Given the description of an element on the screen output the (x, y) to click on. 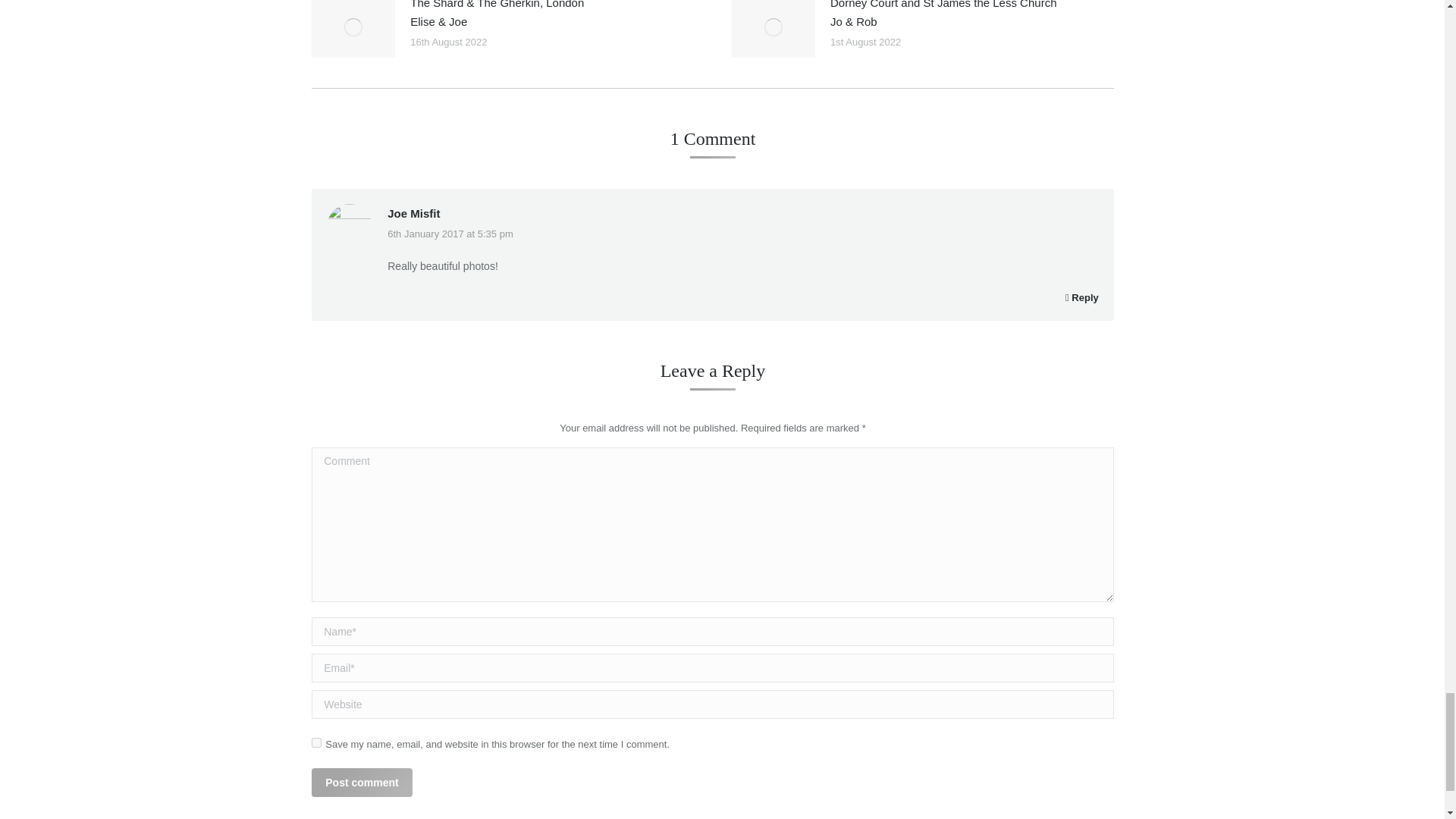
yes (316, 742)
